Given the description of an element on the screen output the (x, y) to click on. 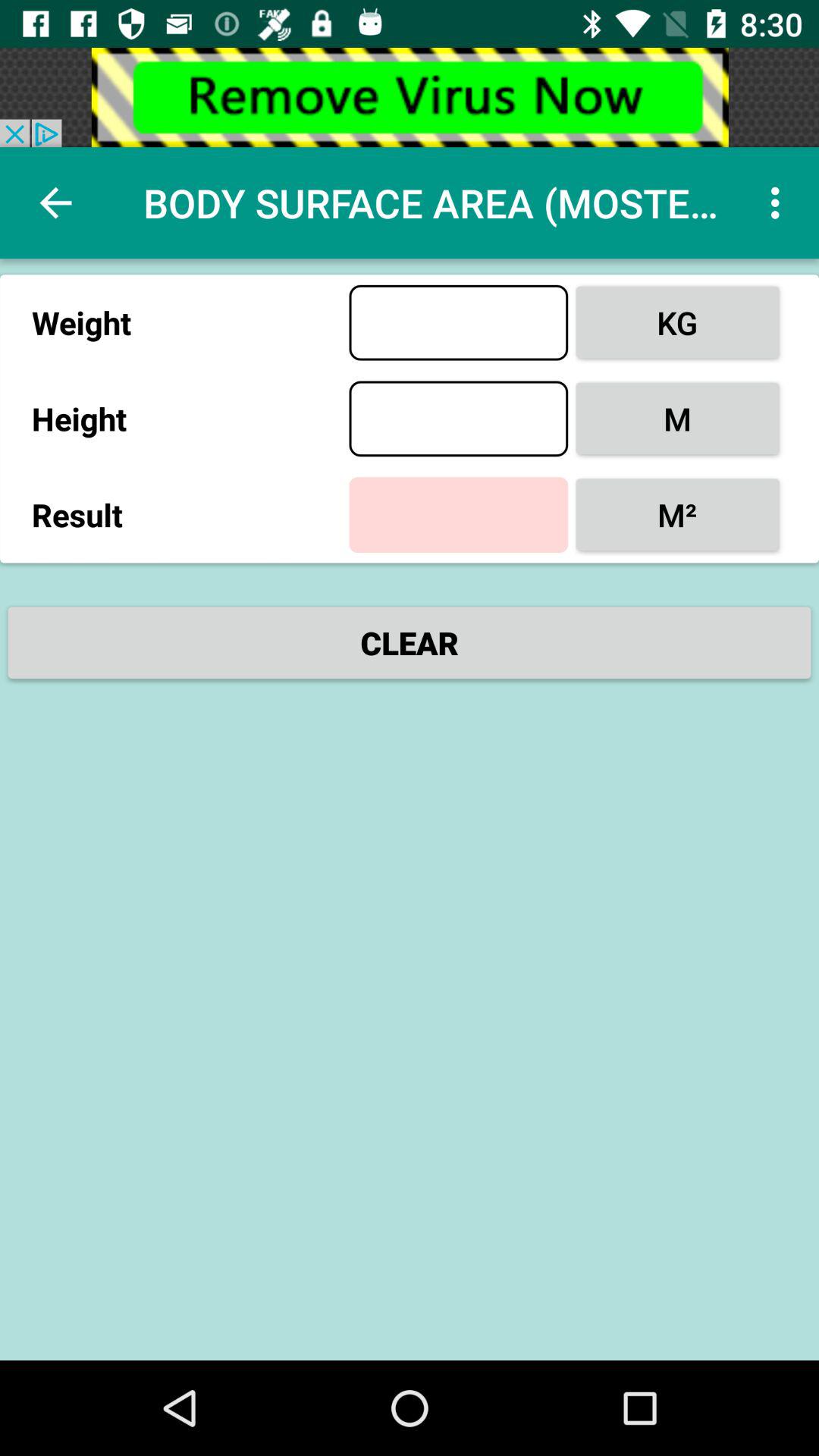
go to app/ website (409, 97)
